Given the description of an element on the screen output the (x, y) to click on. 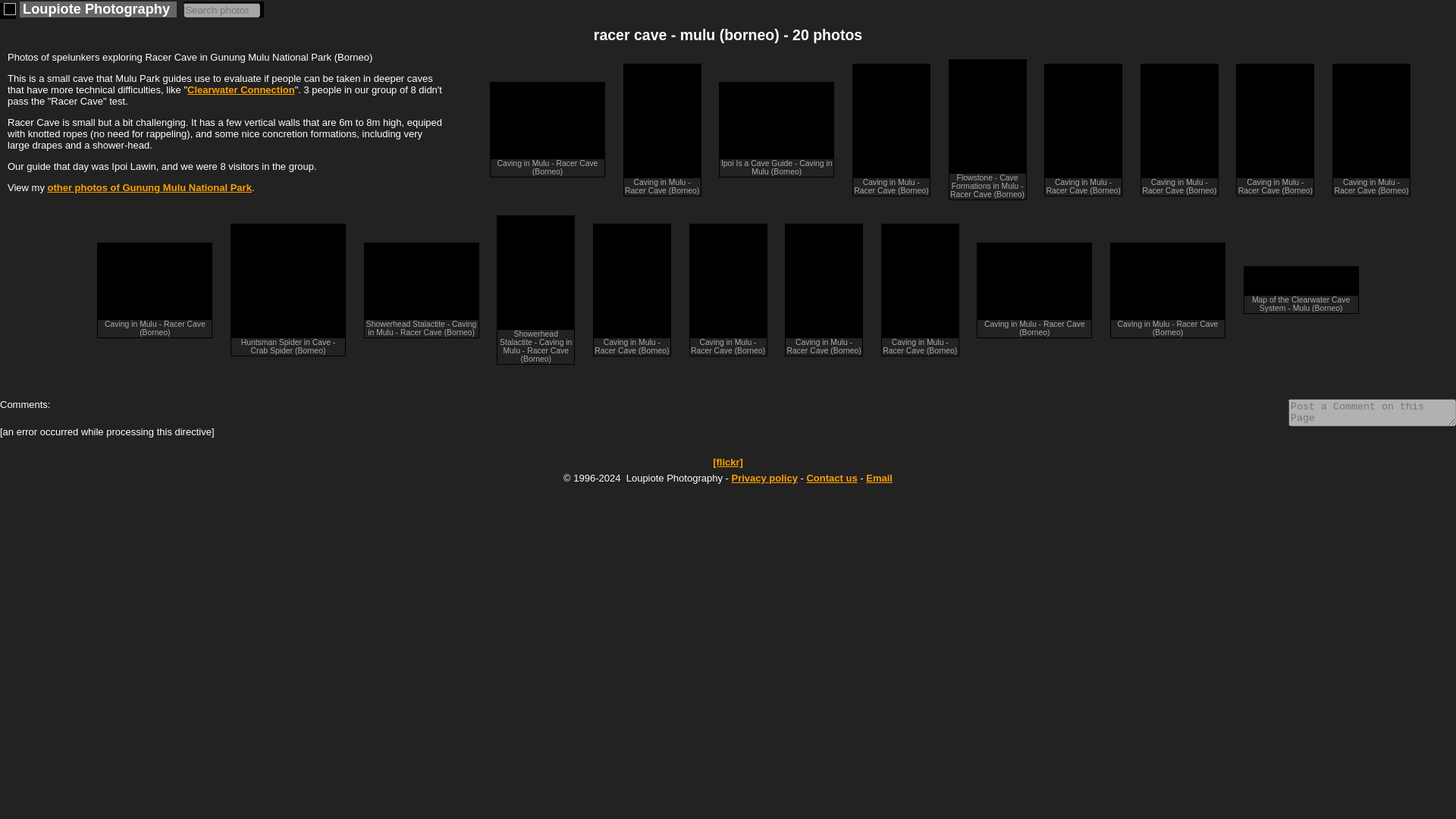
Loupiote Photography (96, 9)
Loupiote Photography (96, 9)
Clearwater Connection (241, 89)
Loupiote Photography (8, 10)
other photos of Gunung Mulu National Park (148, 187)
